Given the description of an element on the screen output the (x, y) to click on. 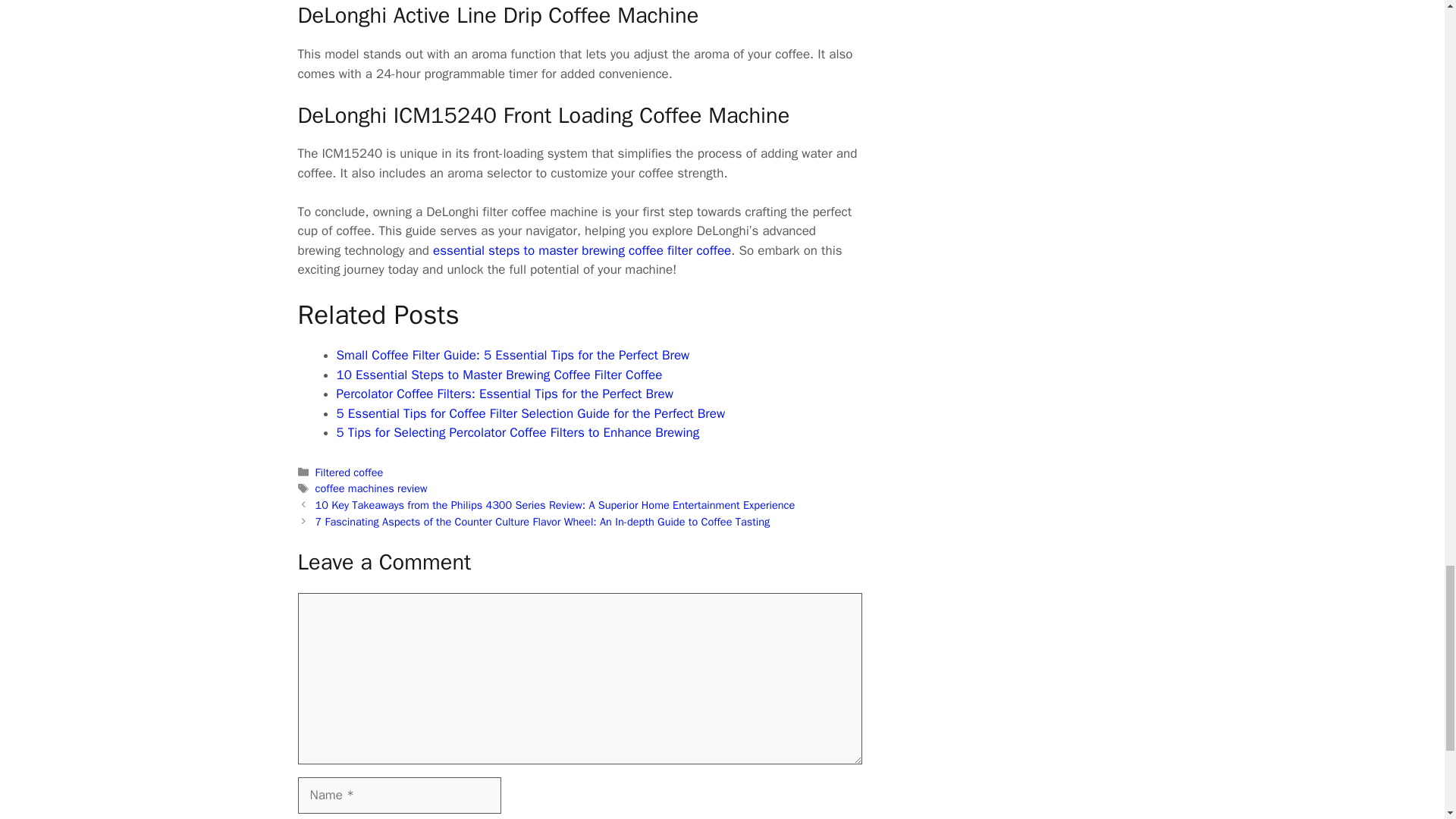
essential steps to master brewing coffee filter coffee (581, 250)
10 Essential Steps to Master Brewing Coffee Filter Coffee (499, 374)
